Given the description of an element on the screen output the (x, y) to click on. 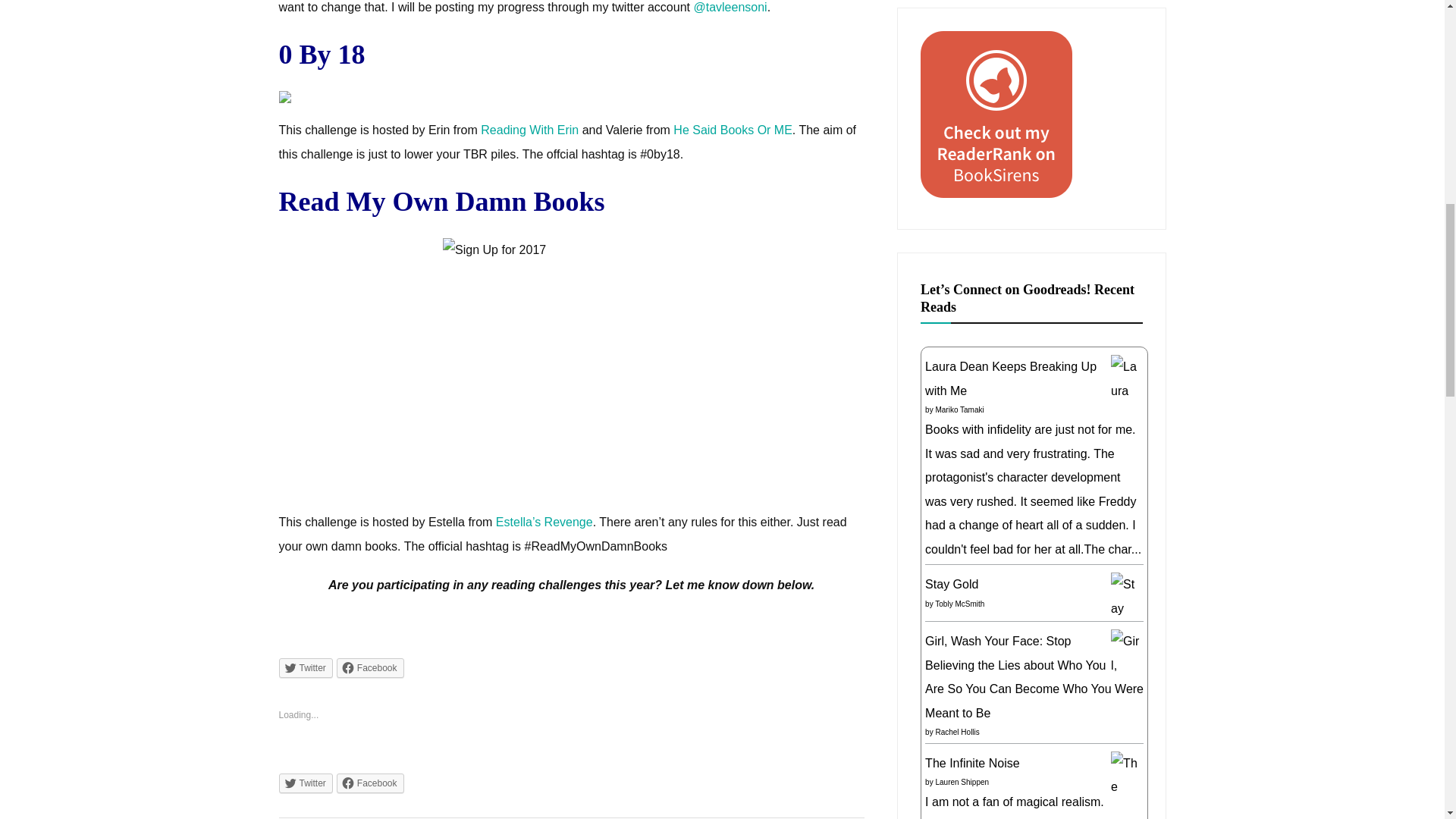
Facebook (370, 783)
Click to share on Facebook (370, 668)
Click to share on Twitter (306, 783)
Laura Dean Keeps Breaking Up with Me (1125, 581)
Twitter (306, 783)
Facebook (370, 668)
Stay Gold (1125, 631)
Reading With Erin (529, 129)
Twitter (306, 668)
Click to share on Twitter (306, 668)
